Given the description of an element on the screen output the (x, y) to click on. 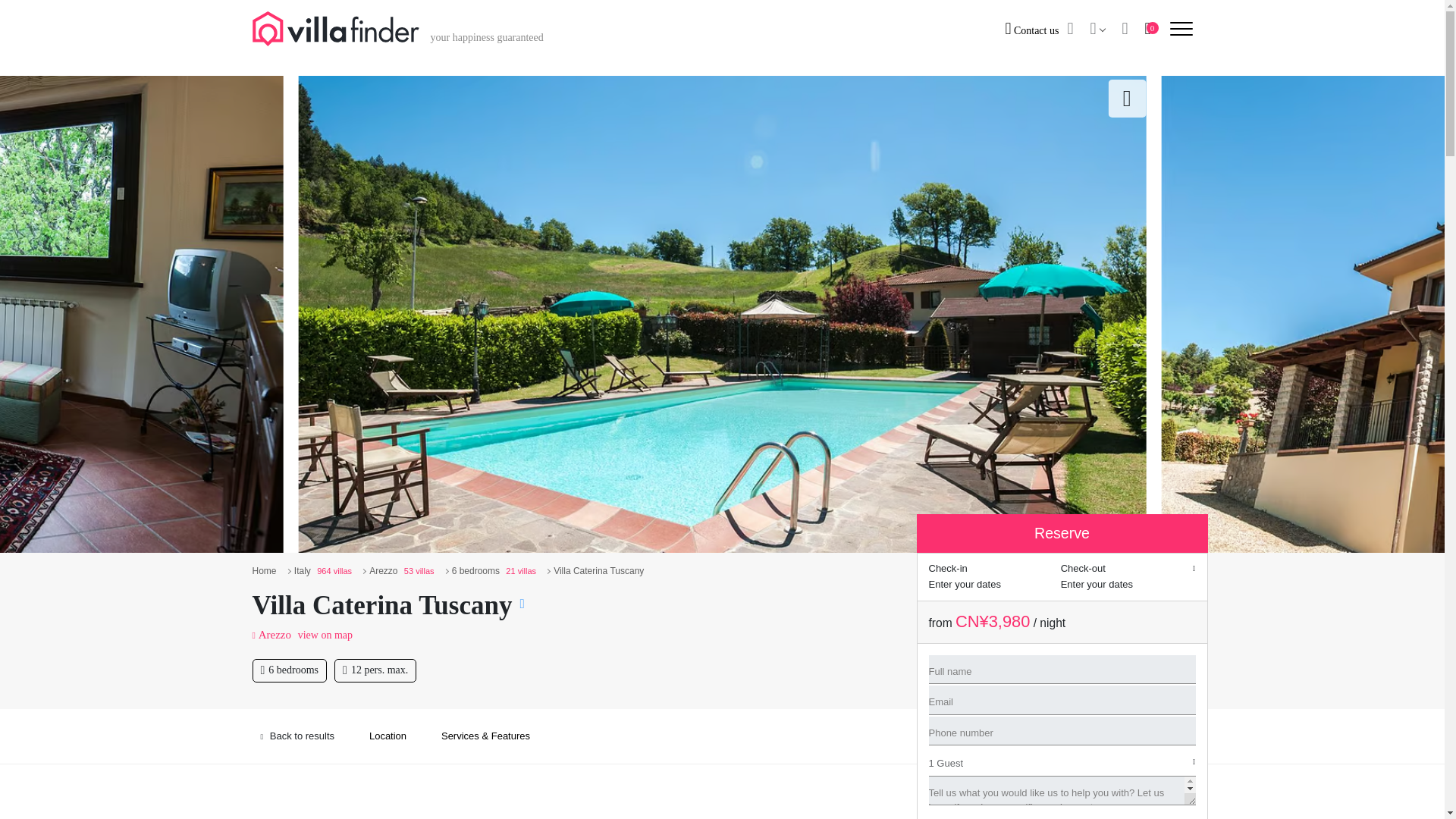
Contact us (1031, 30)
Destinations (1097, 29)
